Given the description of an element on the screen output the (x, y) to click on. 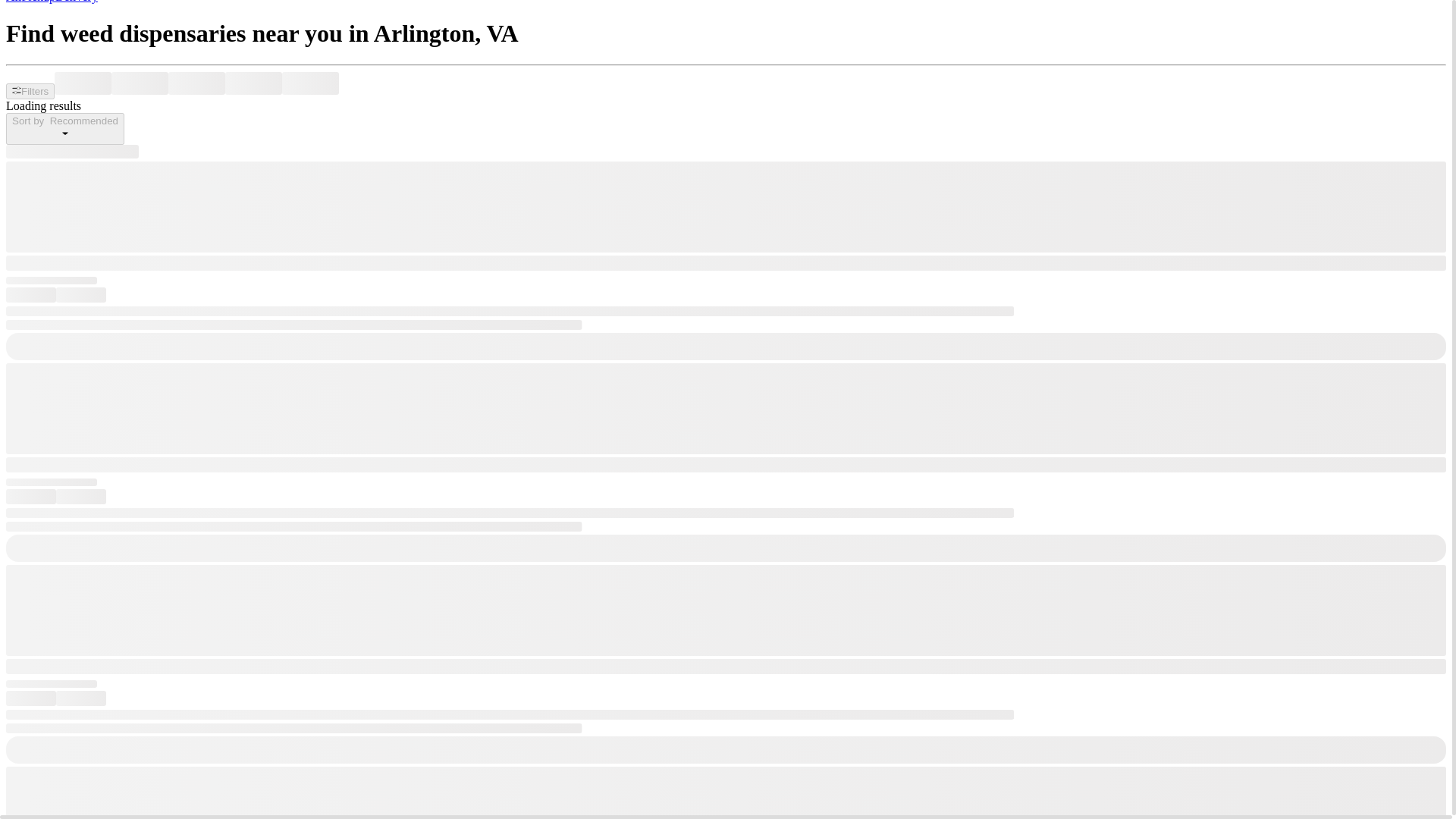
Loading... (83, 83)
Loading... (310, 83)
Loading... (71, 151)
Loading... (253, 83)
Loading... (196, 83)
Loading... (140, 83)
